Given the description of an element on the screen output the (x, y) to click on. 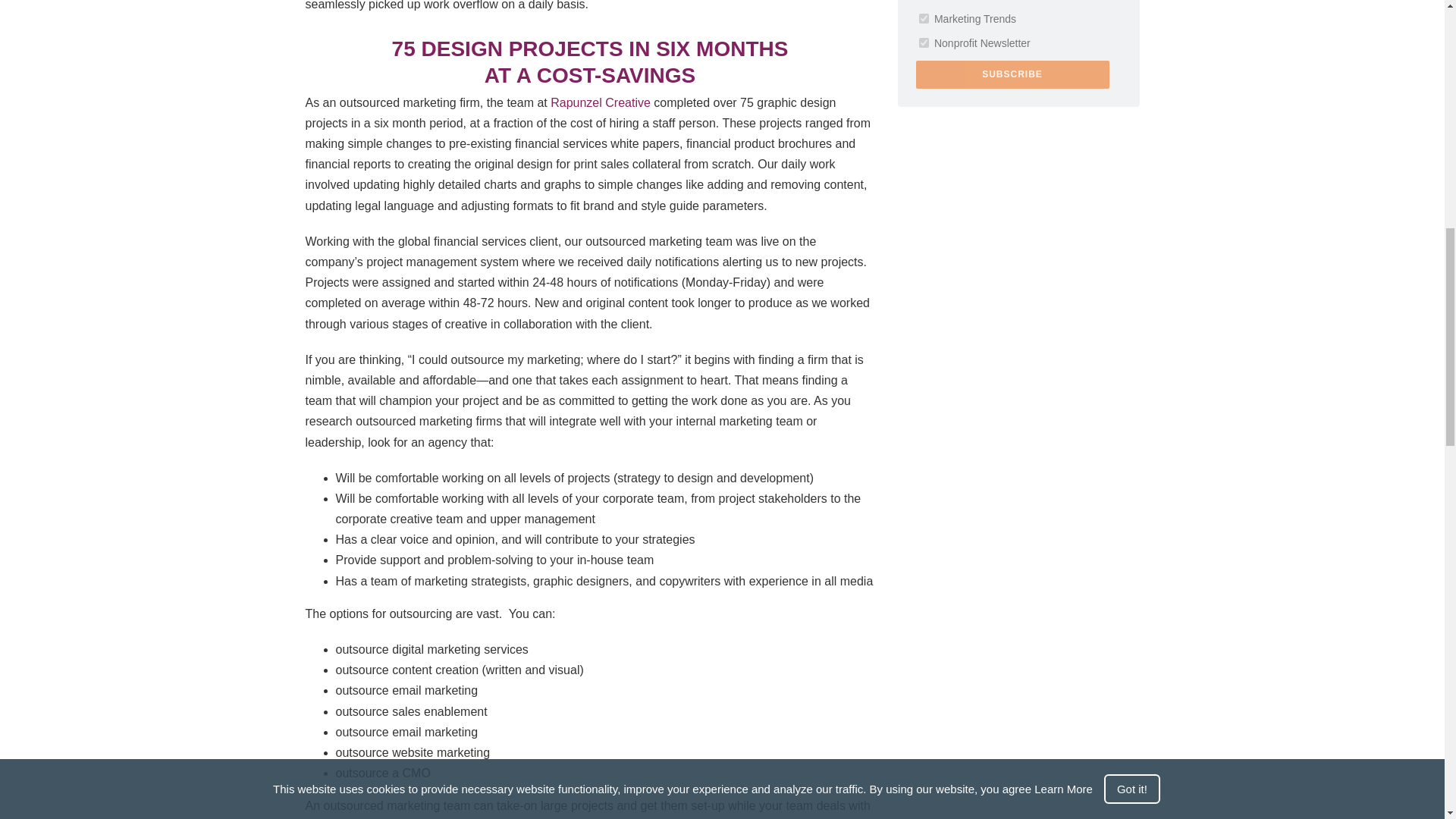
Subscribe (1012, 74)
Marketing Trends (923, 18)
Nonprofit Newsletter (923, 42)
